Given the description of an element on the screen output the (x, y) to click on. 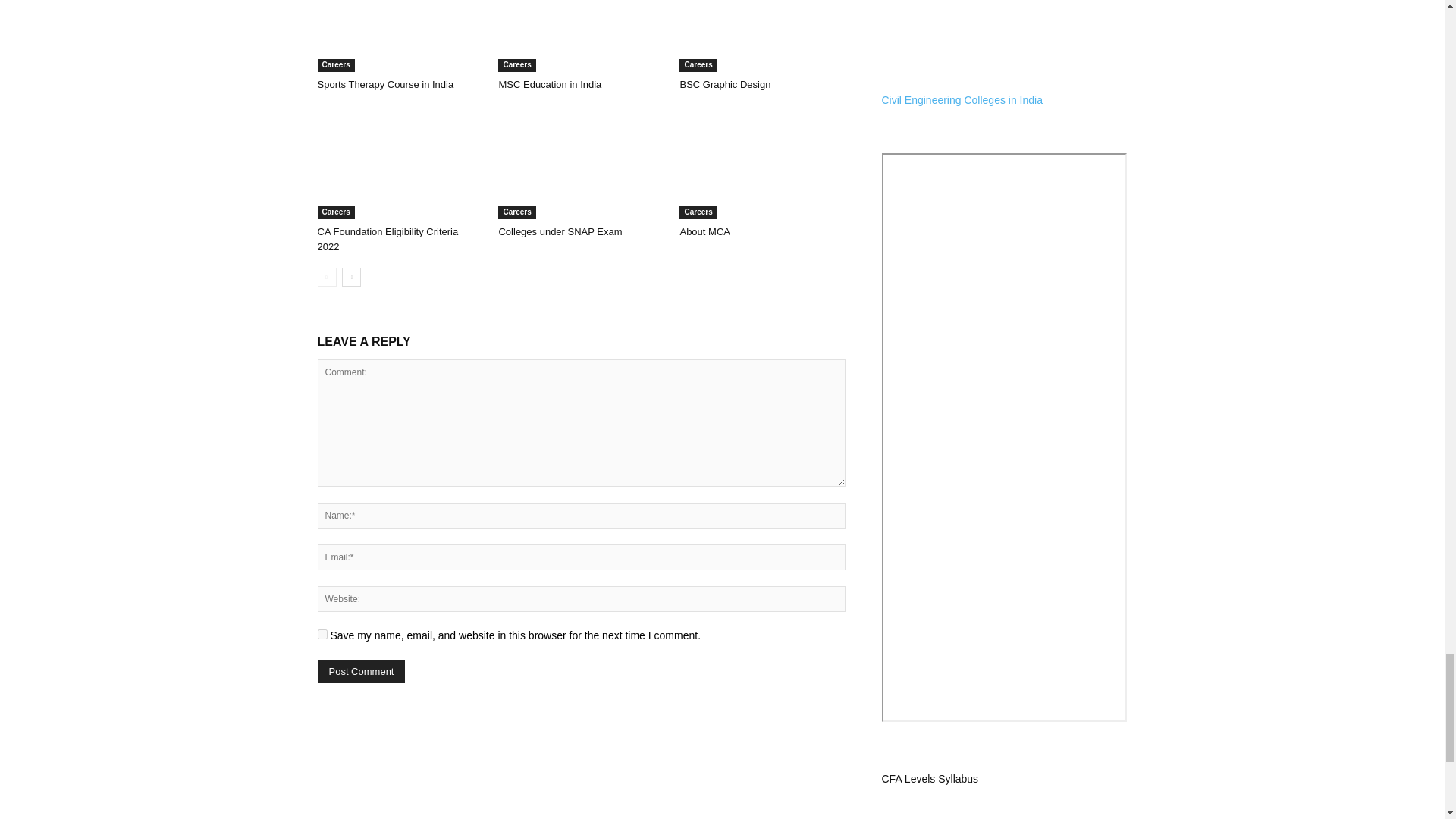
Post Comment (360, 671)
yes (321, 634)
